Given the description of an element on the screen output the (x, y) to click on. 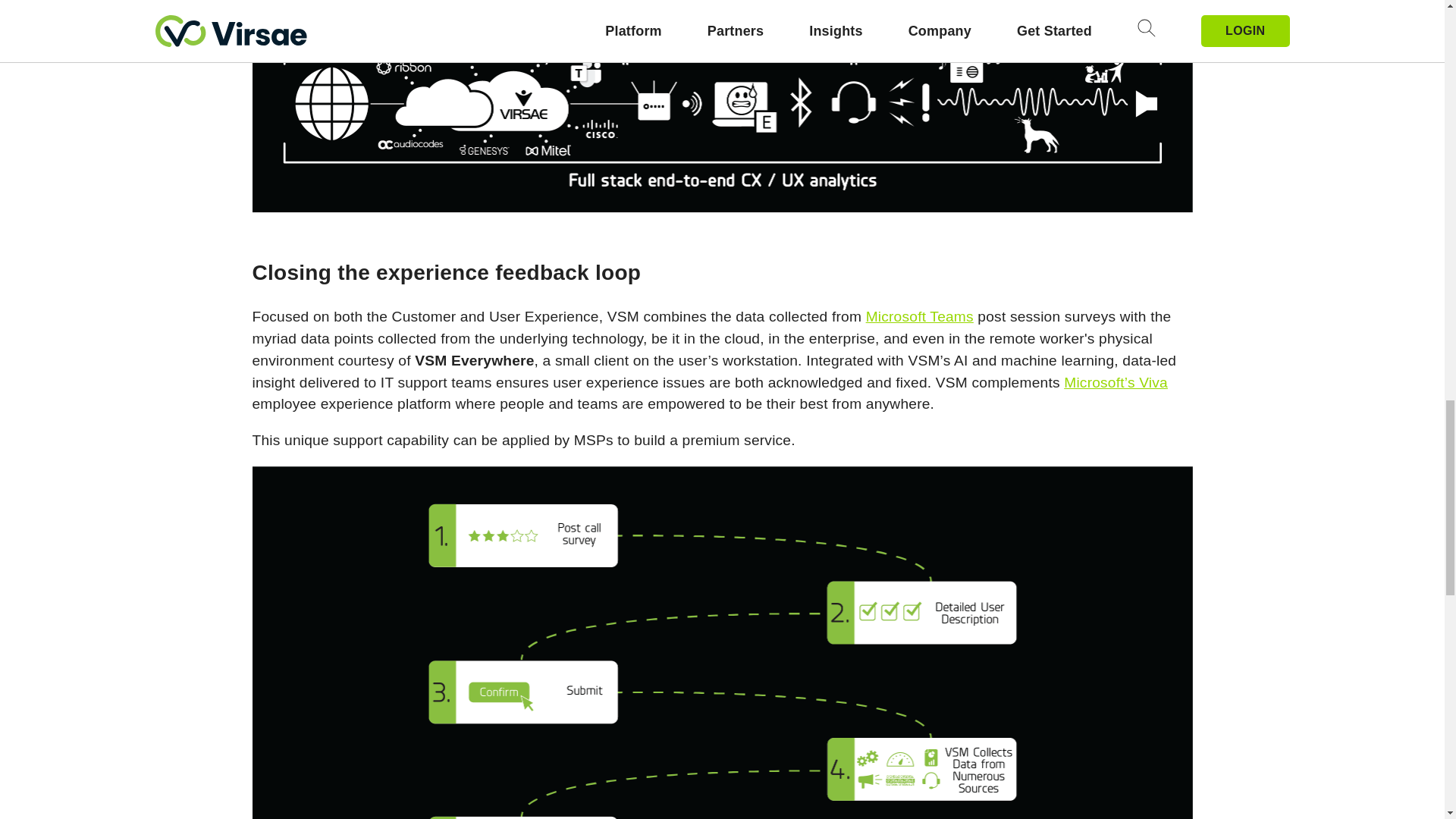
Microsoft Teams (920, 316)
